Given the description of an element on the screen output the (x, y) to click on. 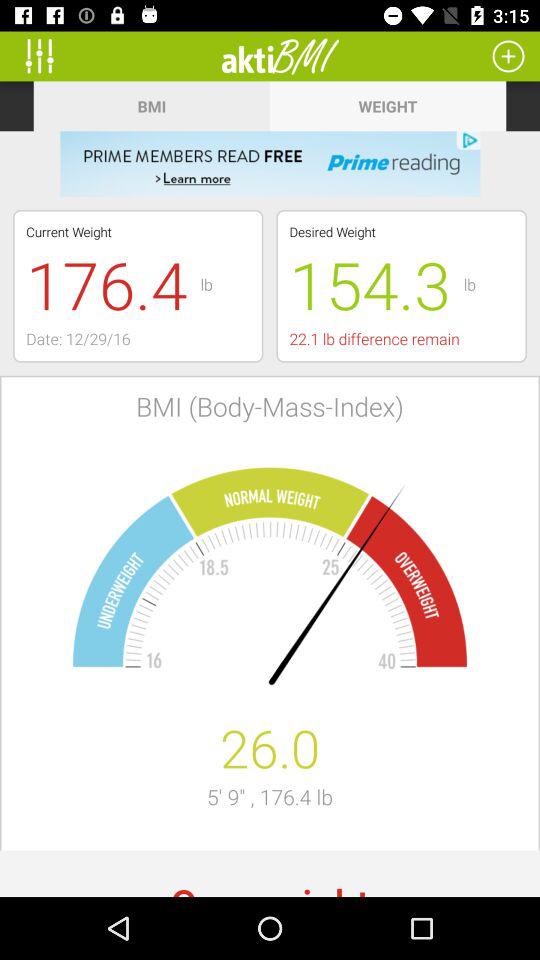
open item above the current weight item (270, 163)
